Given the description of an element on the screen output the (x, y) to click on. 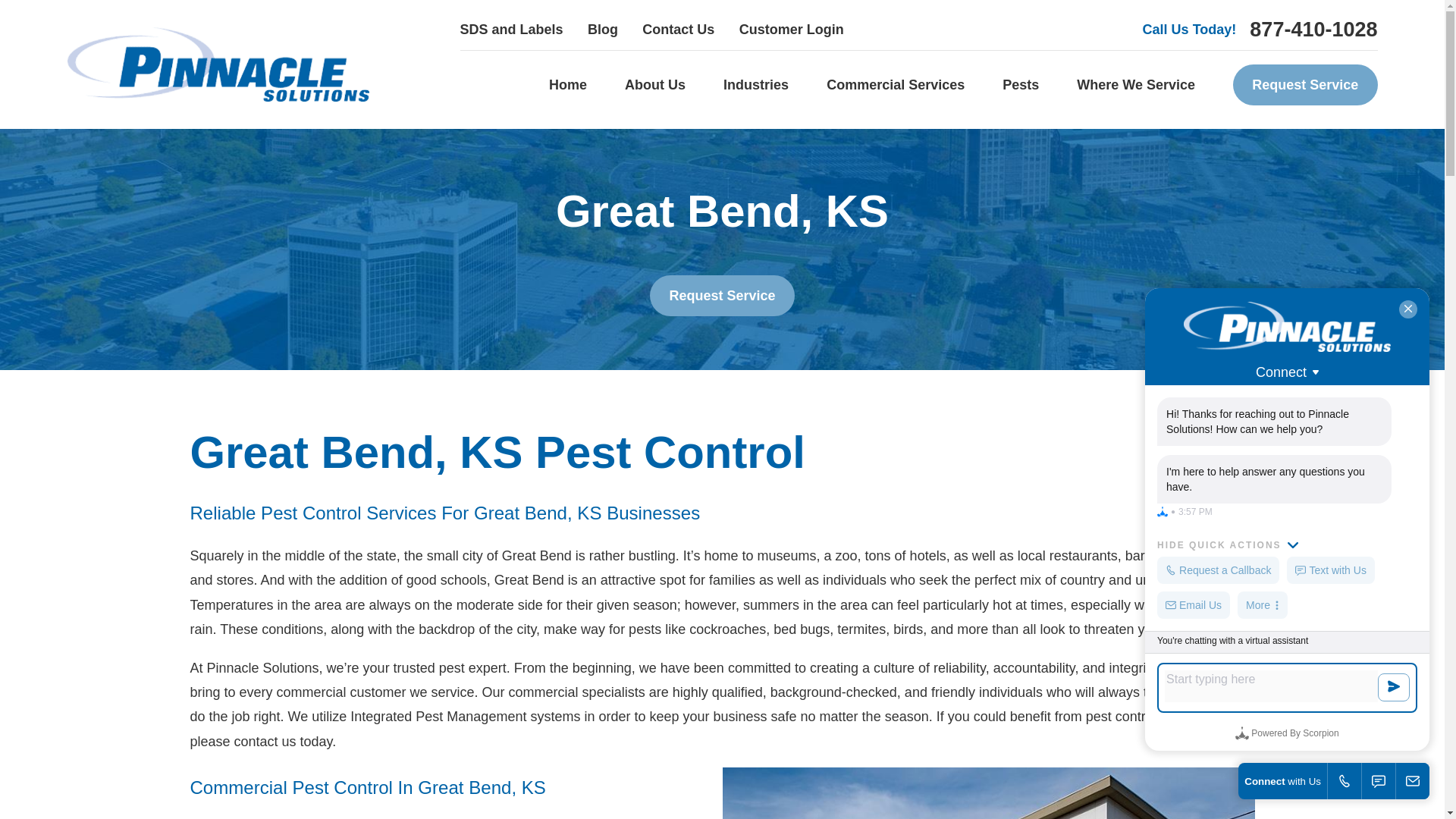
About Us (654, 84)
877-410-1028 (1313, 29)
Home (567, 84)
Commercial Services (895, 84)
Industries (756, 84)
Customer Login (791, 29)
Pinnacle Solutions (217, 64)
Contact Us (678, 29)
Blog (602, 29)
Home (217, 64)
Where We Service (1136, 84)
SDS and Labels (511, 29)
